Given the description of an element on the screen output the (x, y) to click on. 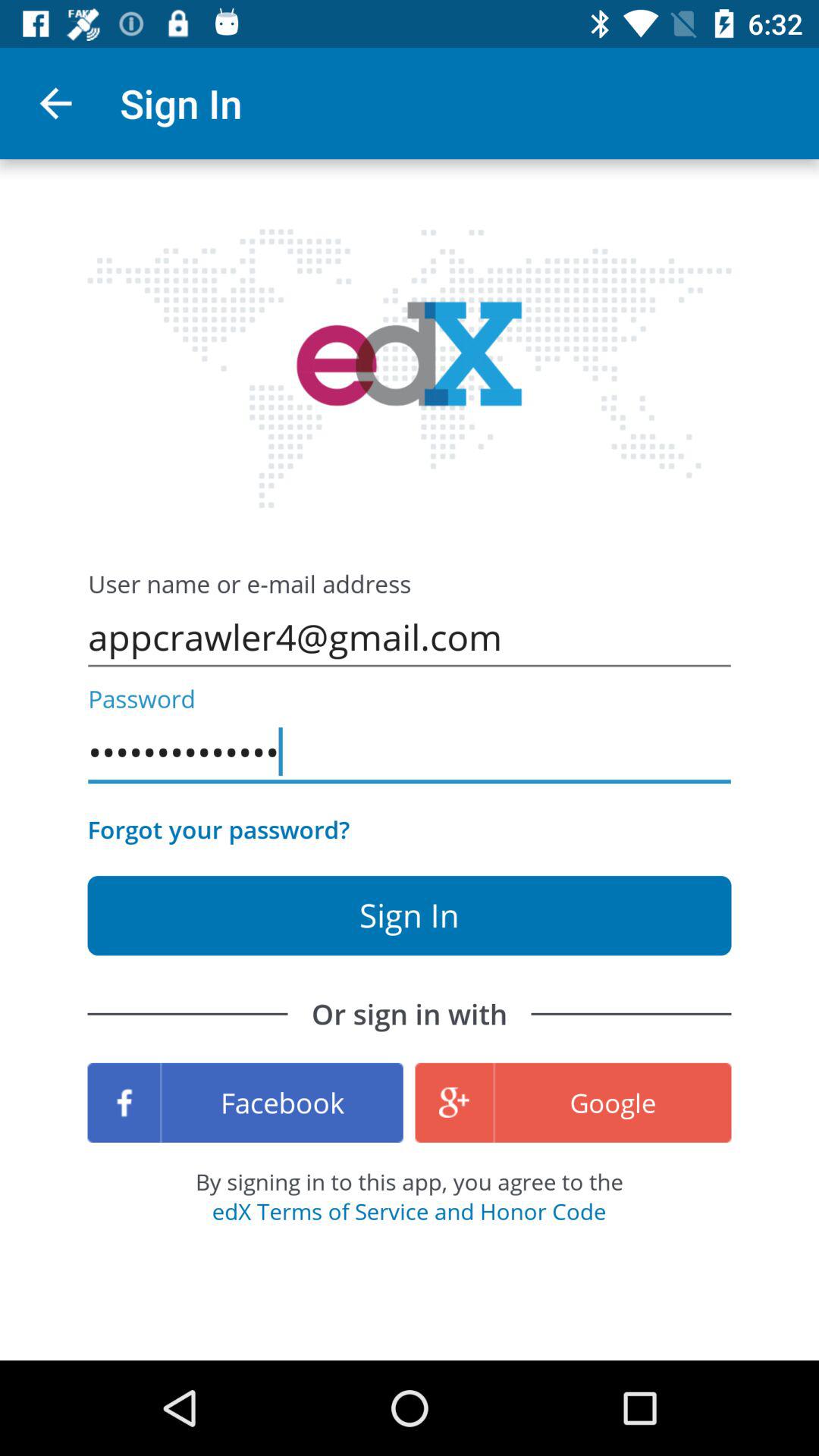
launch icon below the appcrawler3116 (218, 829)
